Given the description of an element on the screen output the (x, y) to click on. 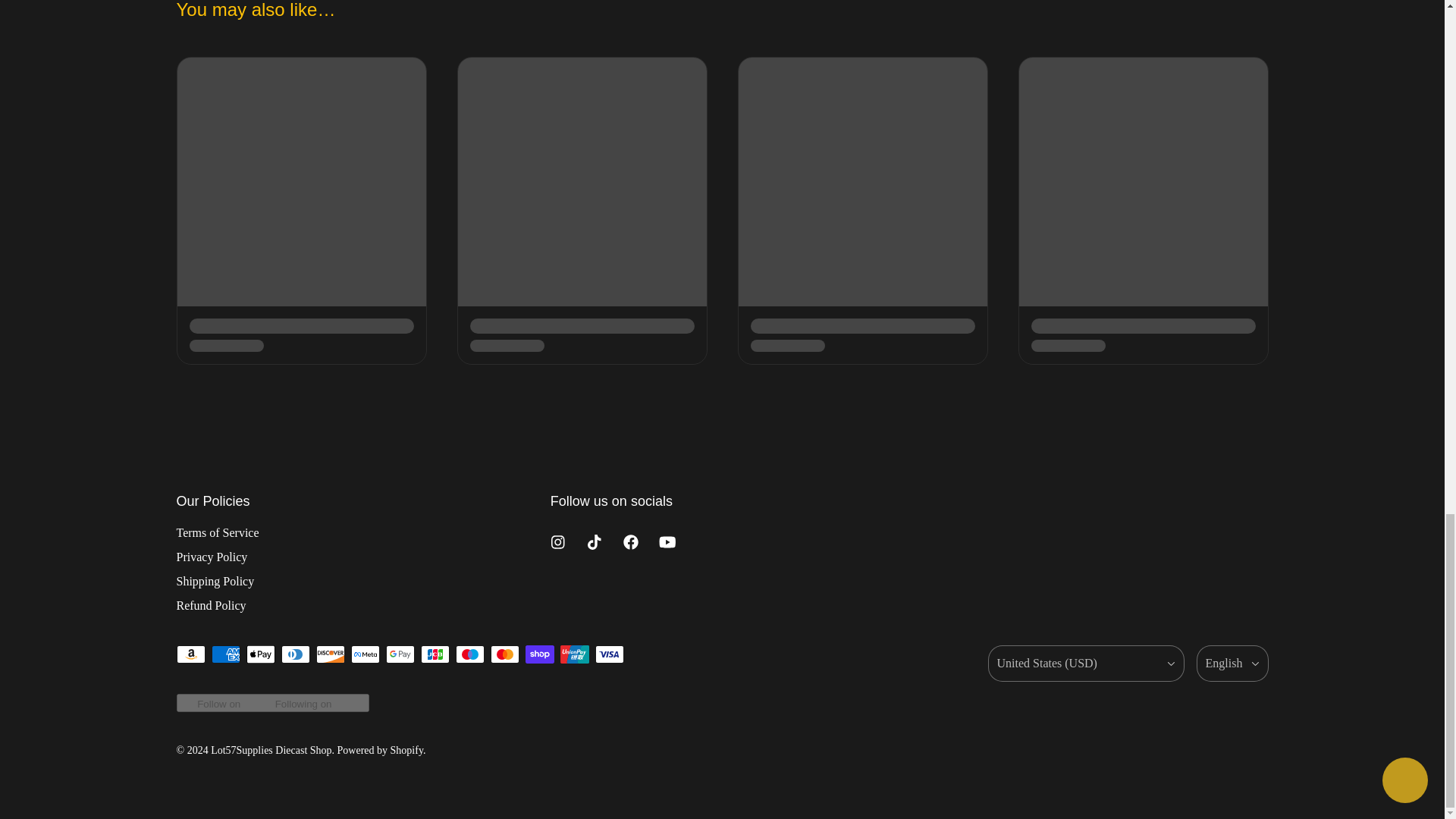
YouTube (667, 542)
Instagram (558, 542)
Facebook (630, 542)
TikTok (594, 542)
